Given the description of an element on the screen output the (x, y) to click on. 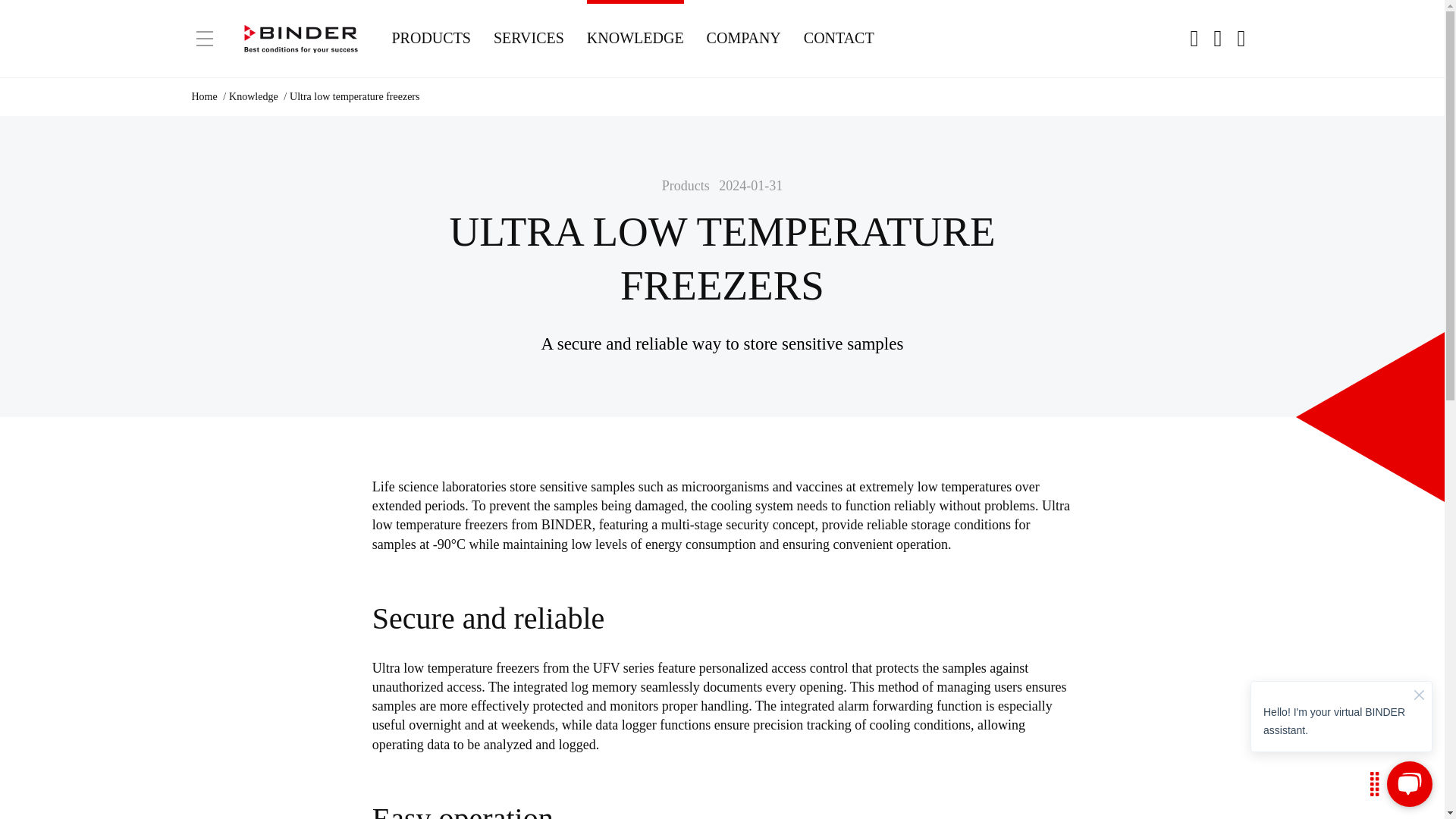
Knowledge (635, 38)
Home (203, 96)
CONTACT (838, 38)
Knowledge (253, 96)
KNOWLEDGE (635, 38)
COMPANY (743, 38)
SERVICES (528, 38)
Knowledge (253, 96)
Contact (838, 38)
Company (743, 38)
Services (528, 38)
Home (203, 96)
Products (430, 38)
PRODUCTS (430, 38)
